Given the description of an element on the screen output the (x, y) to click on. 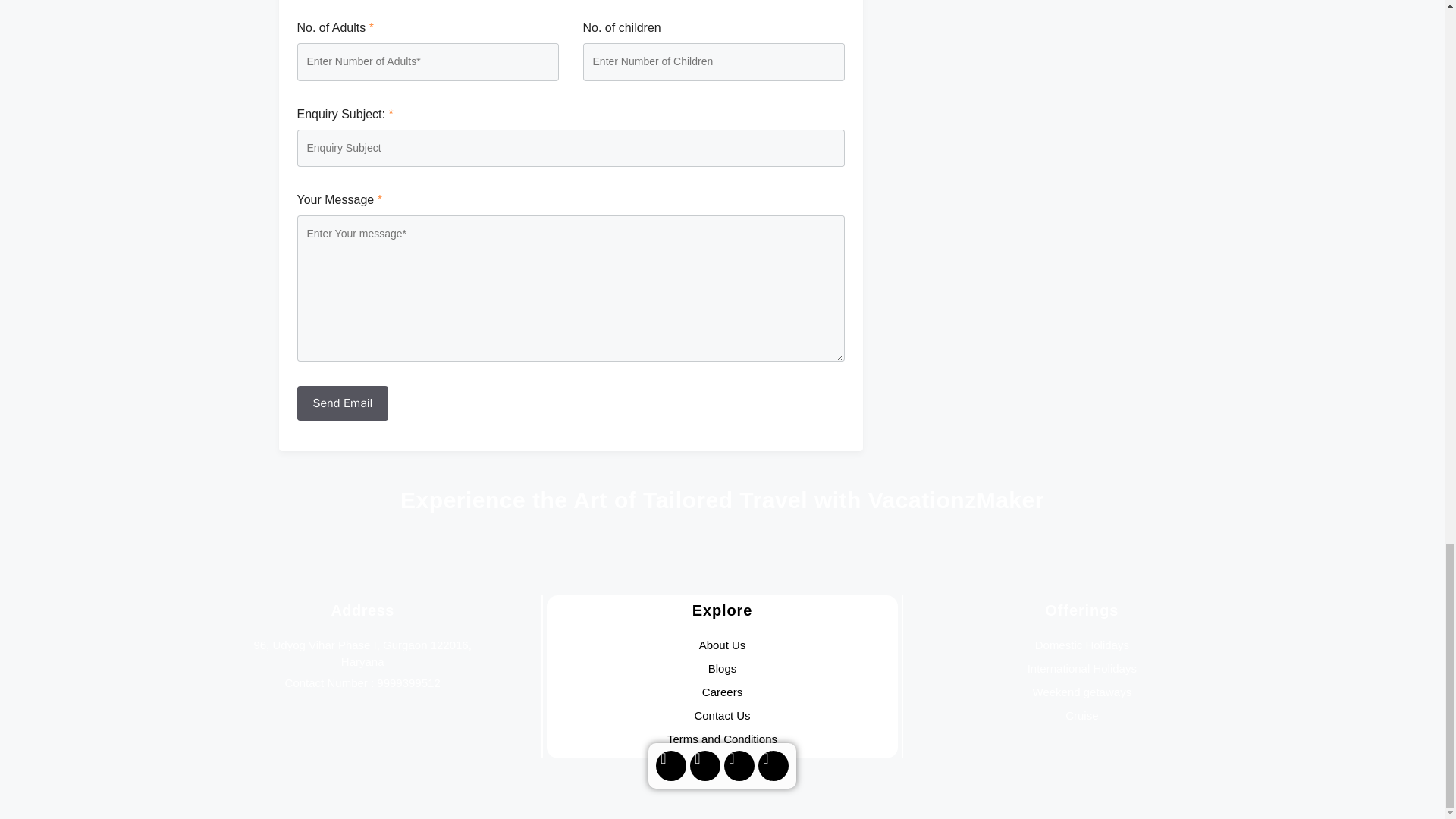
Send Email (342, 402)
